Given the description of an element on the screen output the (x, y) to click on. 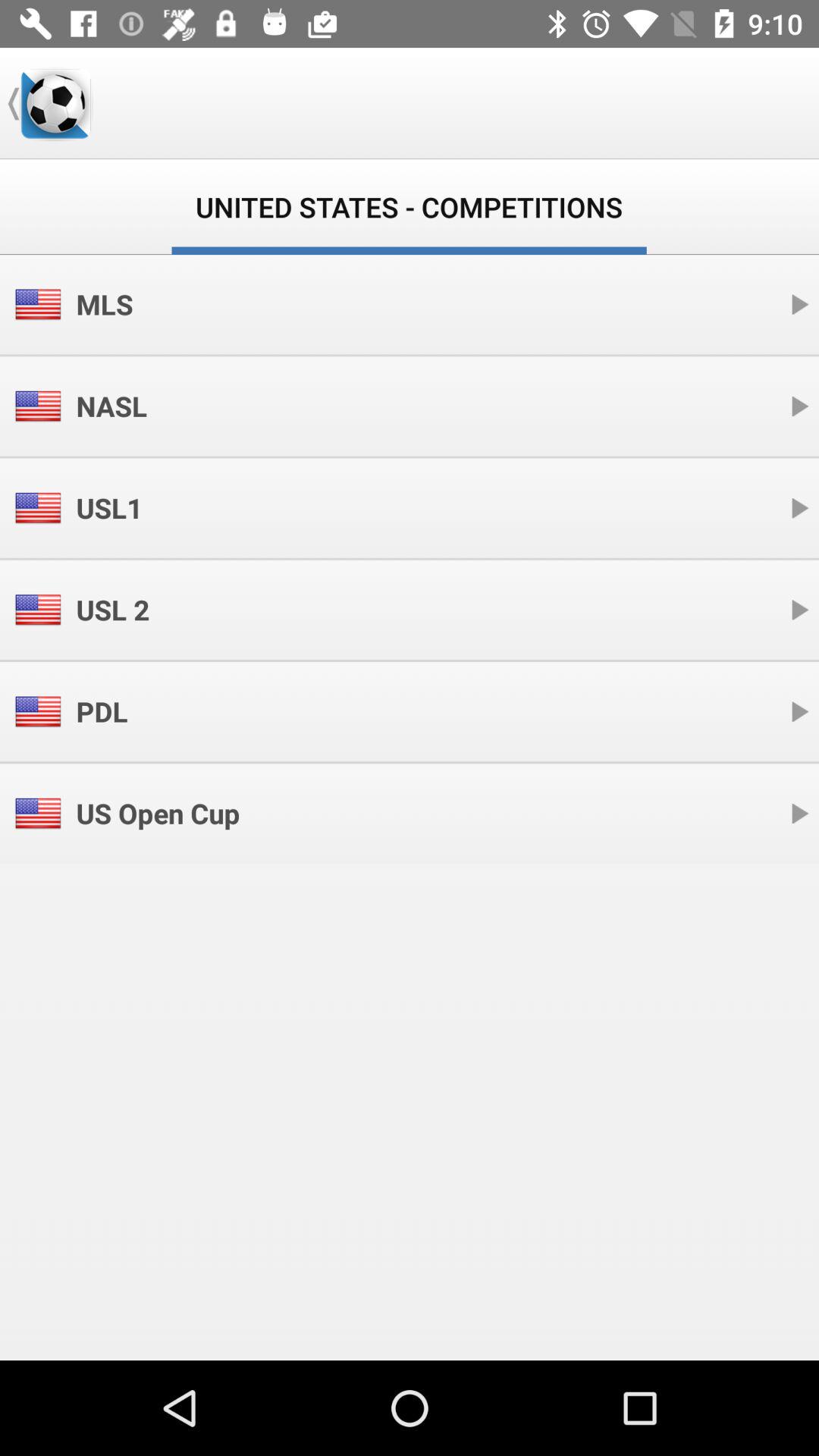
choose usl 2 (112, 609)
